Given the description of an element on the screen output the (x, y) to click on. 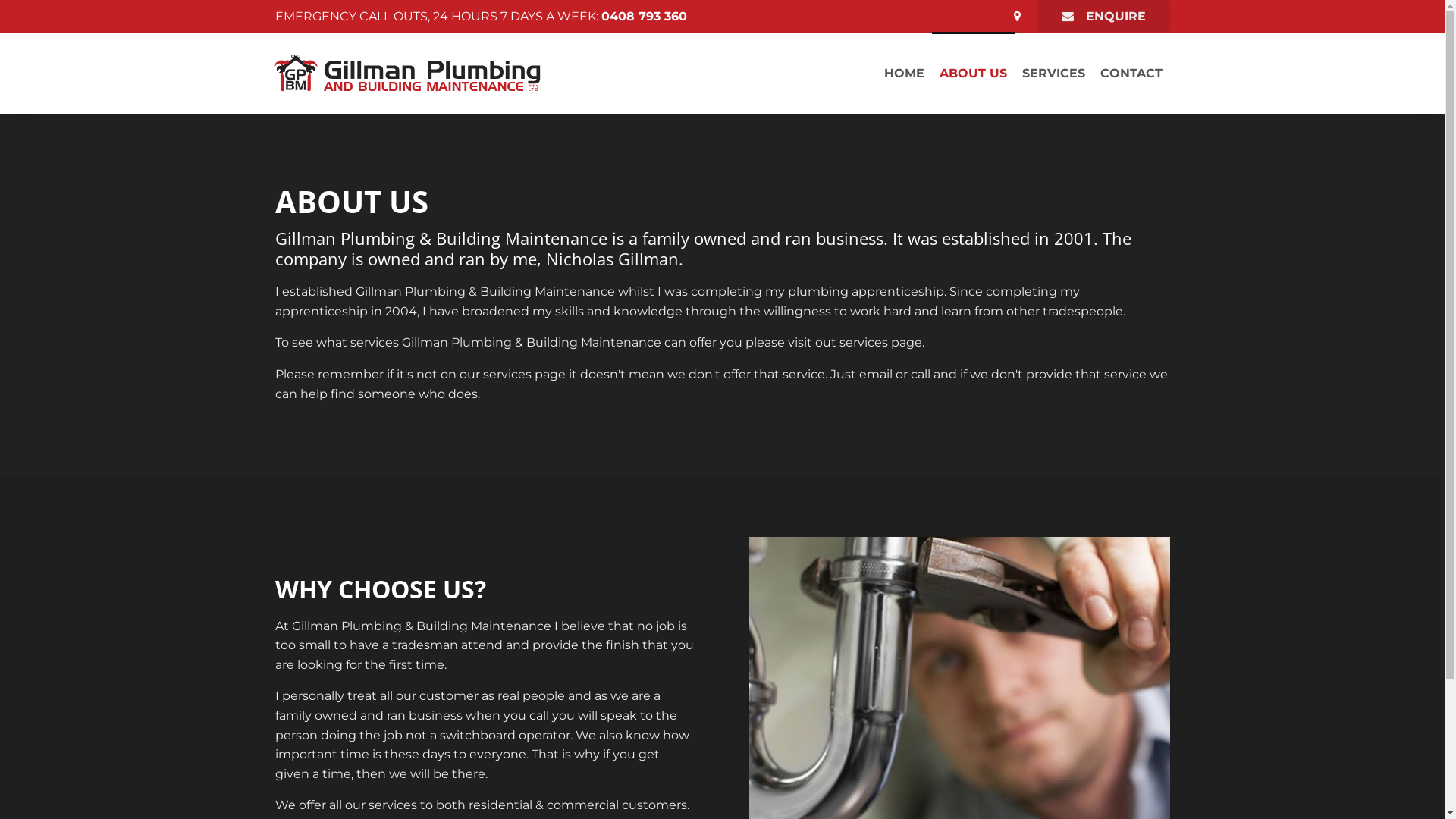
CONTACT Element type: text (1130, 71)
ABOUT US Element type: text (972, 71)
SERVICES Element type: text (1053, 71)
ENQUIRE Element type: text (1103, 15)
HOME Element type: text (903, 71)
